Given the description of an element on the screen output the (x, y) to click on. 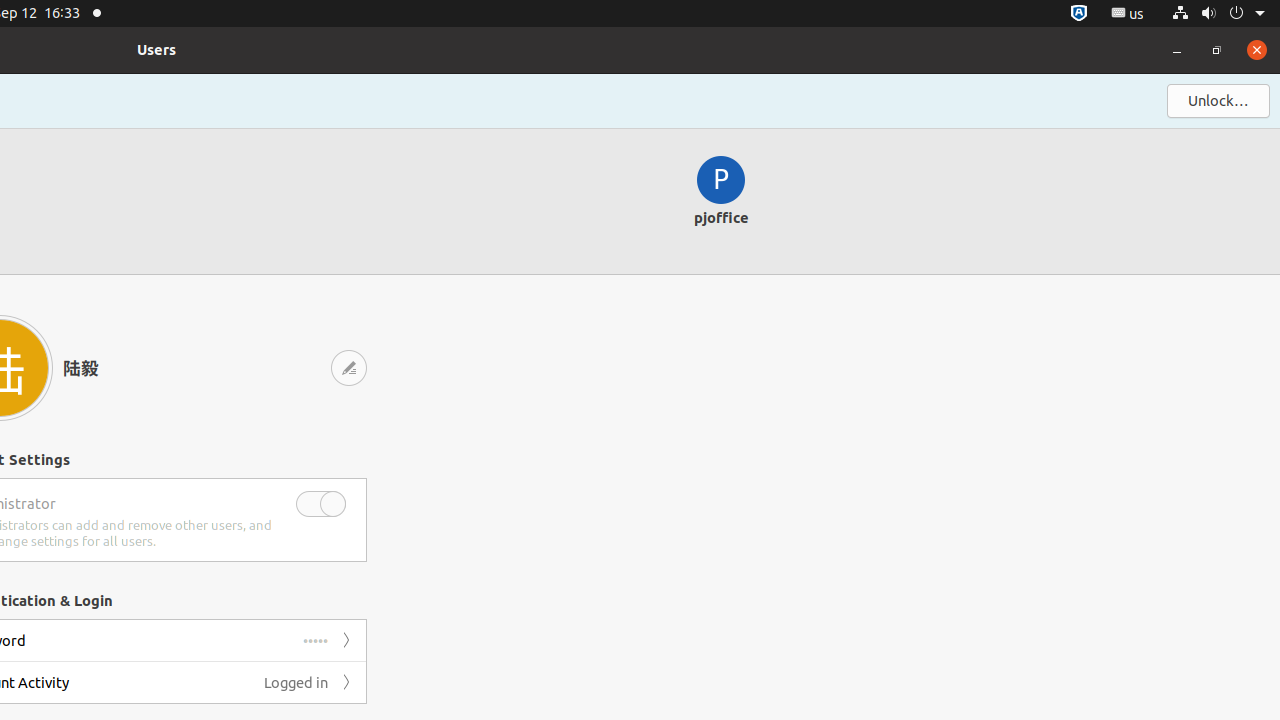
陆毅 Element type: label (135, 368)
Restore Element type: push-button (1217, 50)
Unlock Element type: push-button (1218, 101)
Close Element type: push-button (1257, 50)
